Given the description of an element on the screen output the (x, y) to click on. 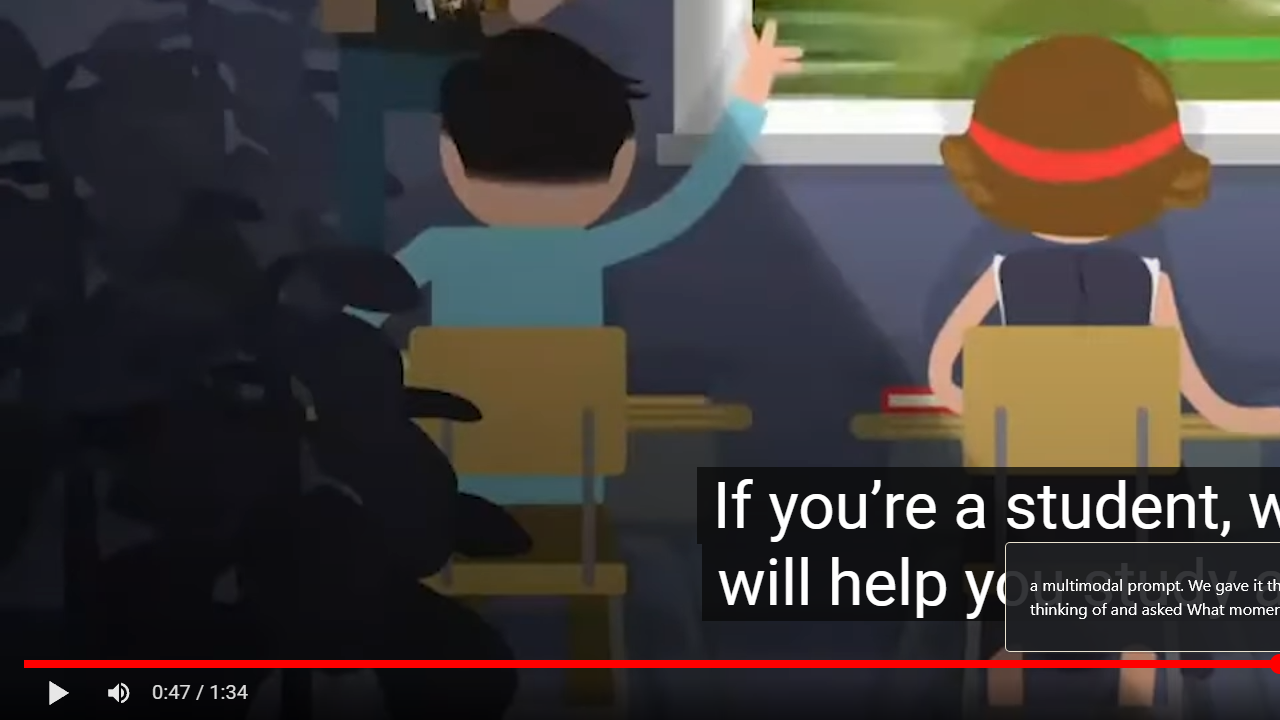
Pause (k) (58, 693)
Mute (m) (120, 693)
